Given the description of an element on the screen output the (x, y) to click on. 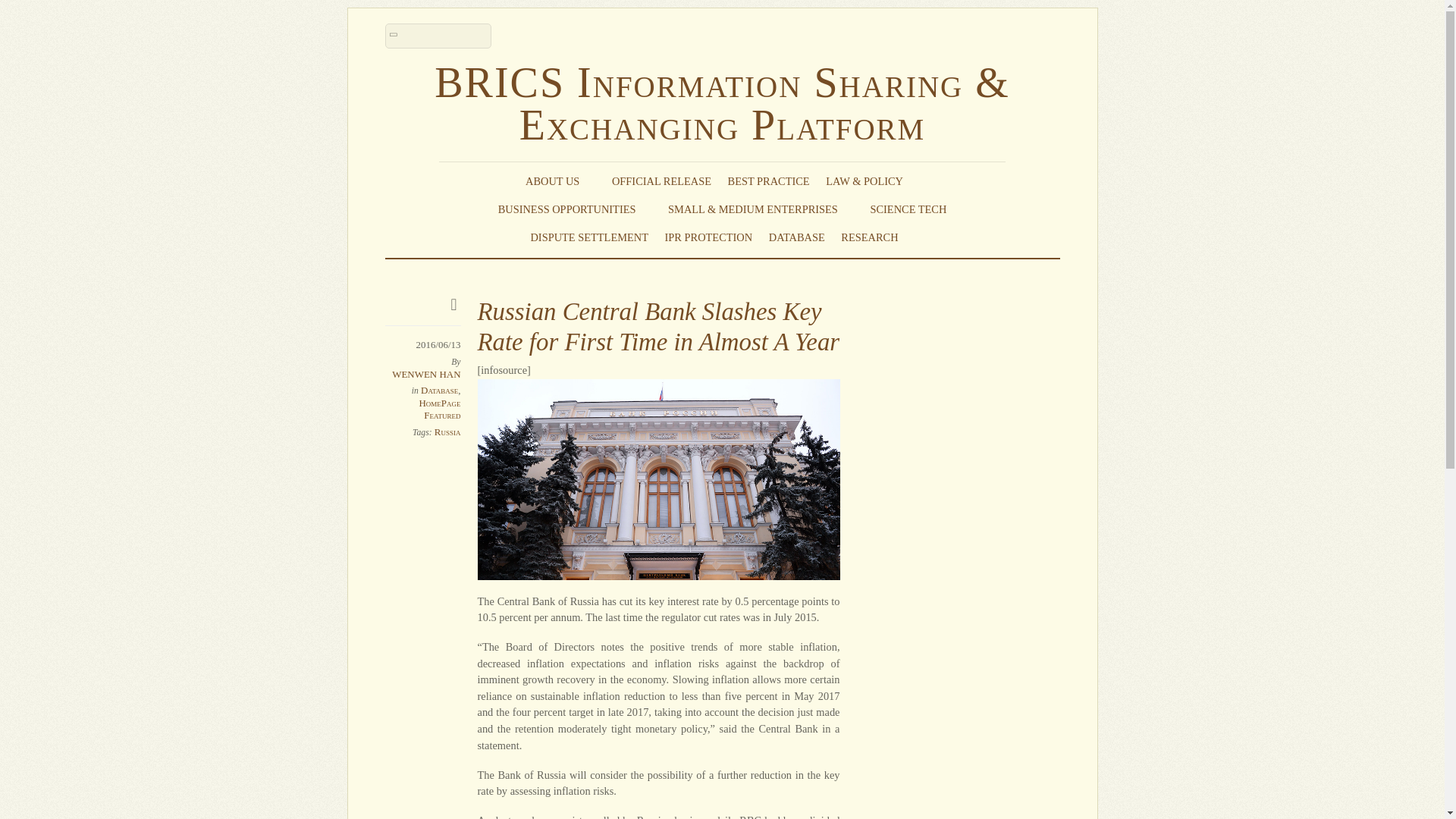
DISPUTE SETTLEMENT (588, 237)
DATABASE (796, 237)
Search (438, 35)
HomePage Featured (439, 408)
RESEARCH (877, 237)
BUSINESS OPPORTUNITIES (575, 209)
IPR PROTECTION (709, 237)
WENWEN HAN (425, 374)
SCIENCE TECH (908, 209)
